Given the description of an element on the screen output the (x, y) to click on. 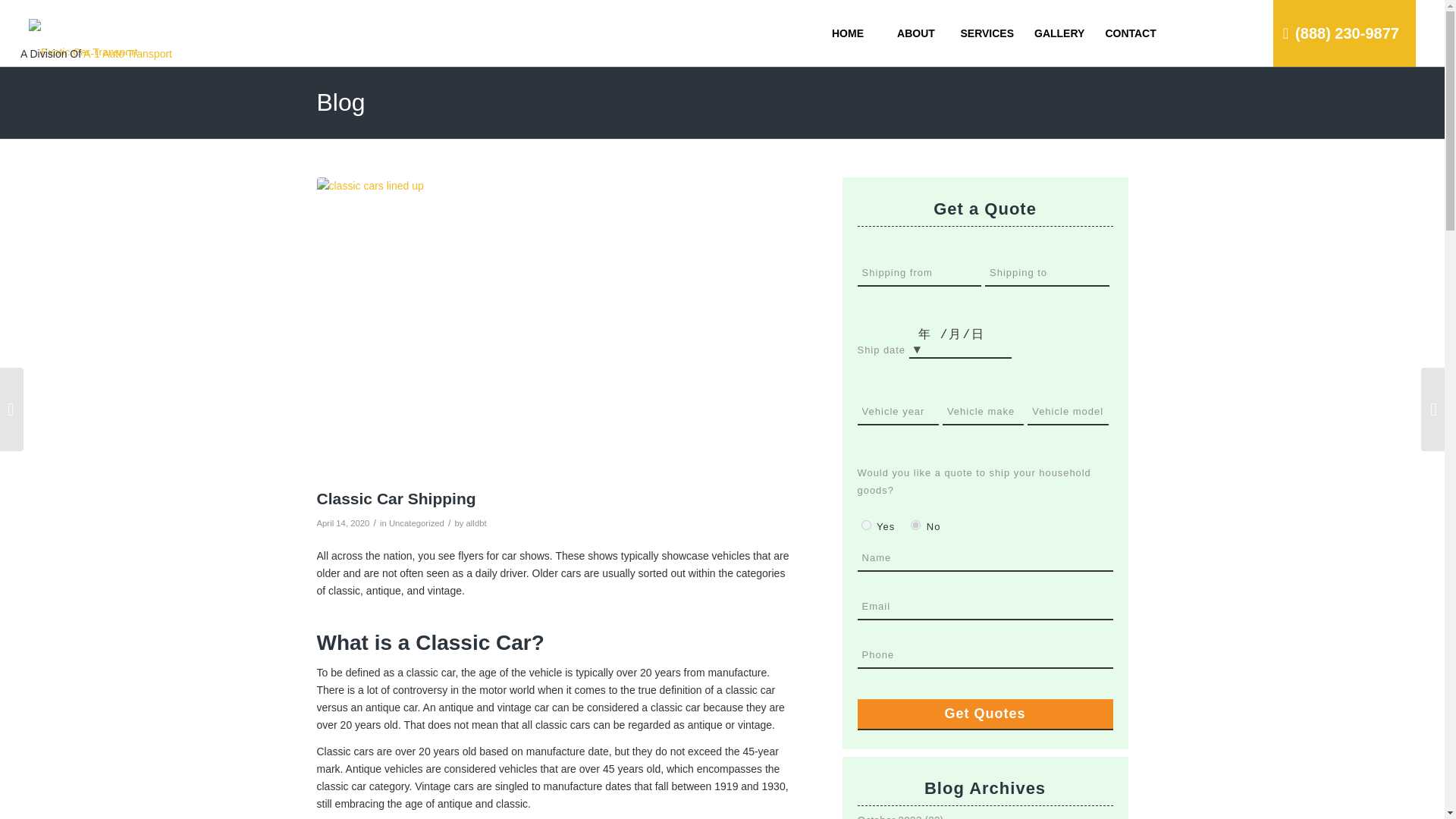
HOME (846, 33)
Permanent Link: Blog (341, 102)
Posts by alldbt (475, 522)
logo-small (83, 33)
Get Quotes (985, 714)
Uncategorized (416, 522)
GET A QUOTE (1272, 66)
GALLERY (1058, 33)
logo-small (83, 27)
